Given the description of an element on the screen output the (x, y) to click on. 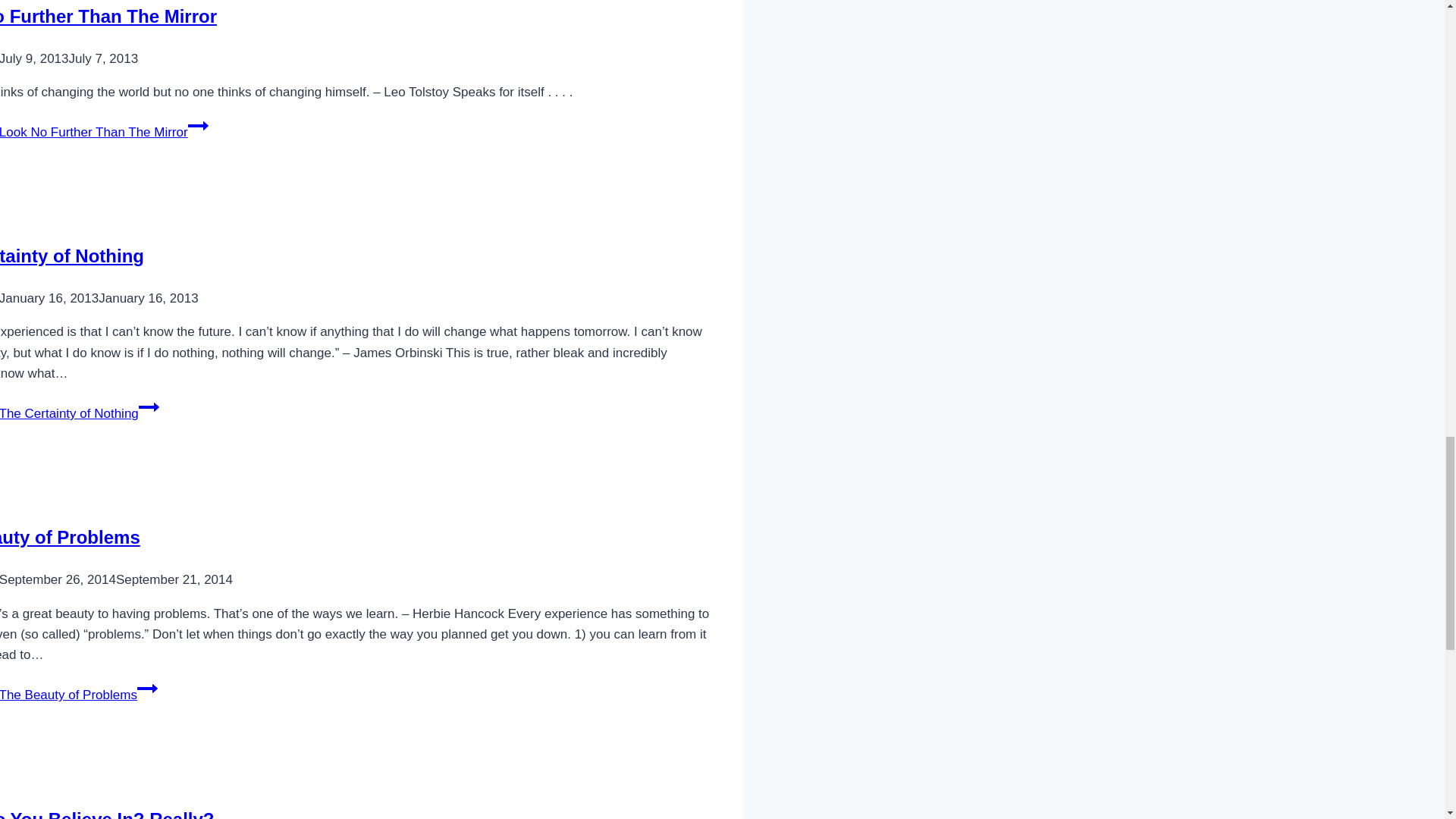
Continue (148, 406)
Continue (146, 688)
Read More Look No Further Than The MirrorContinue (104, 132)
Read More The Beauty of ProblemsContinue (78, 694)
Look No Further Than The Mirror (108, 15)
The Certainty of Nothing (72, 255)
Continue (197, 125)
Read More The Certainty of NothingContinue (79, 413)
What Do You Believe In? Really? (107, 814)
The Beauty of Problems (69, 537)
